Given the description of an element on the screen output the (x, y) to click on. 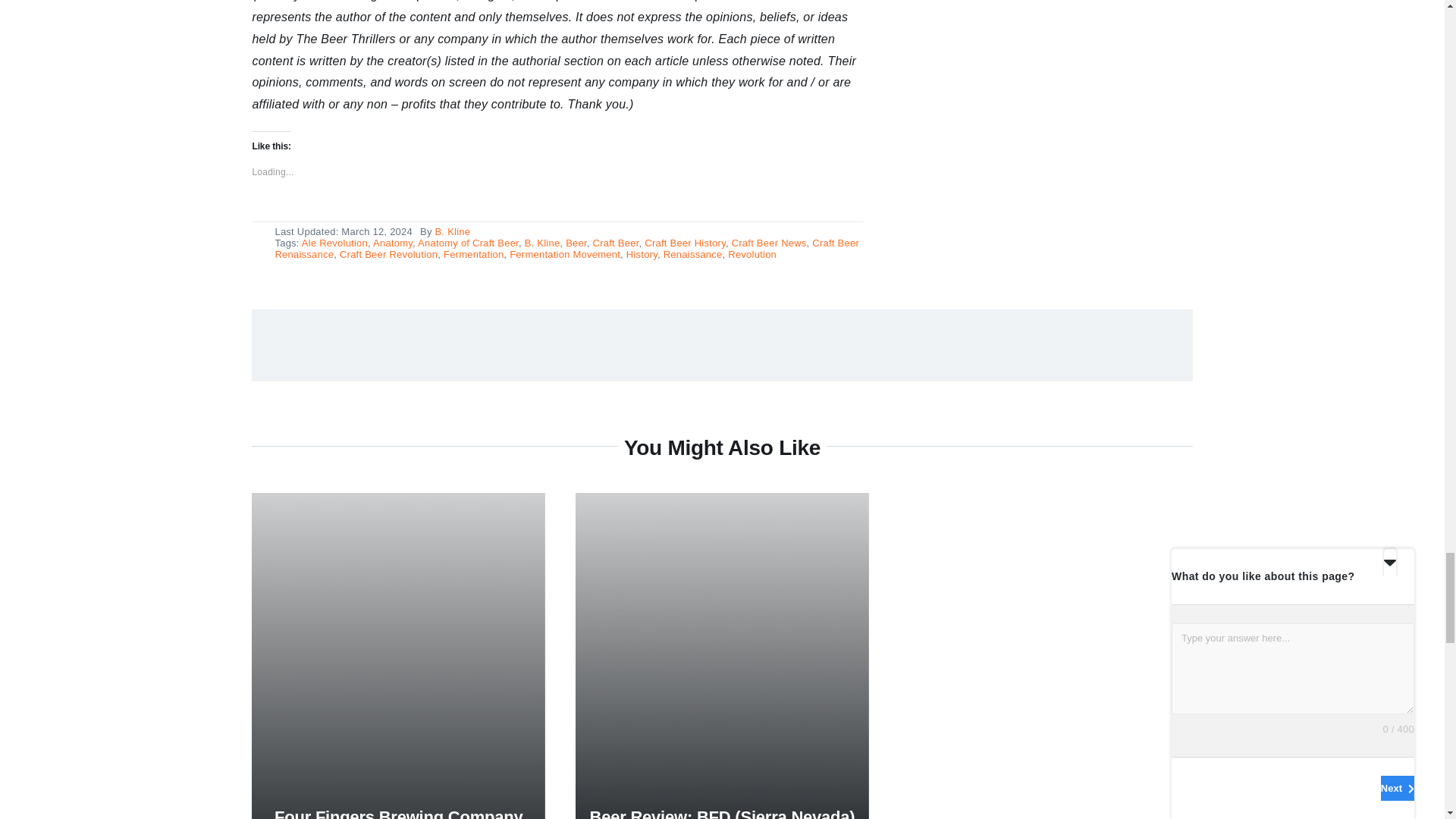
Posts by B. Kline (452, 231)
